Given the description of an element on the screen output the (x, y) to click on. 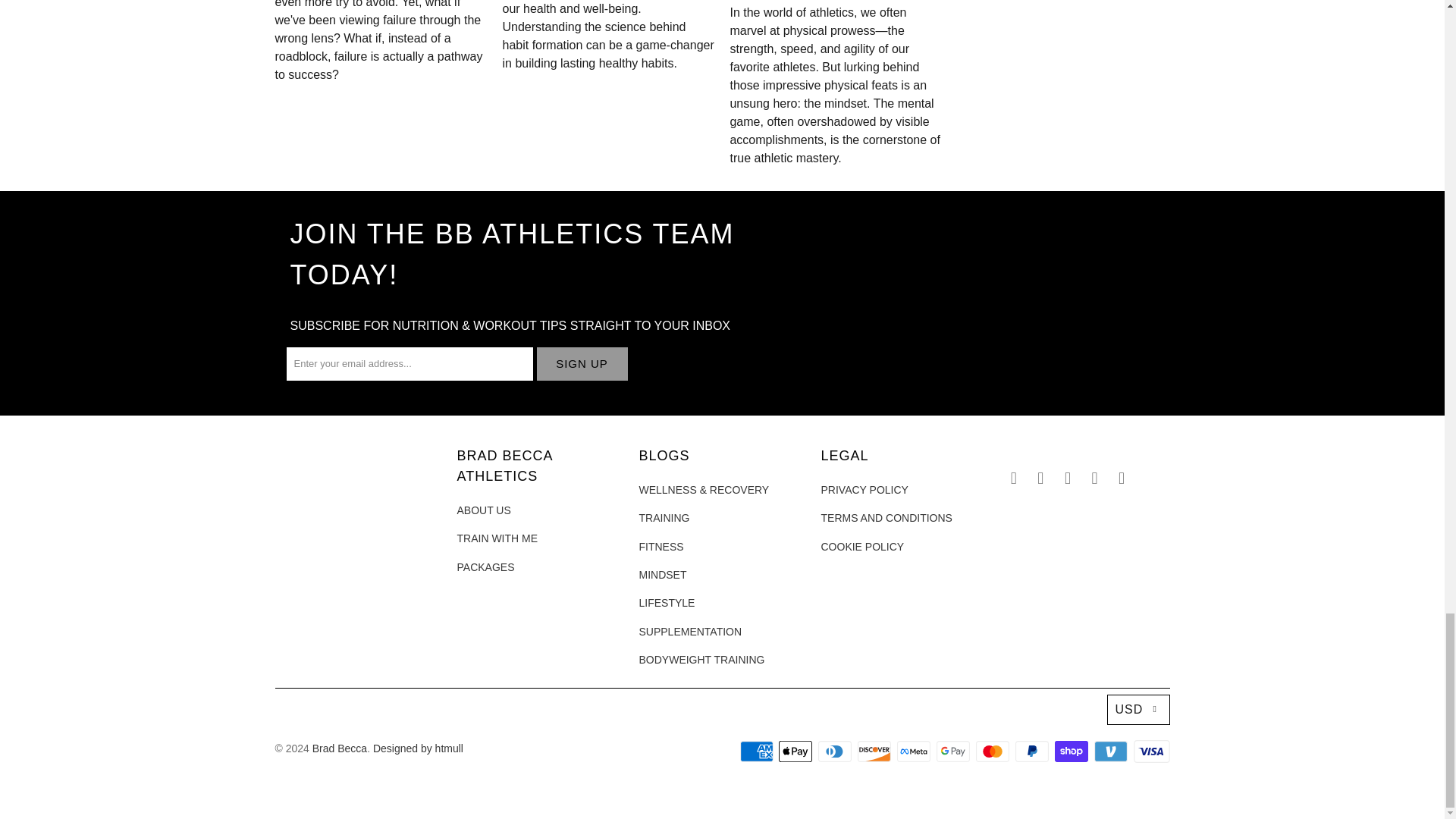
Diners Club (836, 751)
Visa (1150, 751)
Discover (875, 751)
Shop Pay (1072, 751)
PayPal (1032, 751)
Sign Up (582, 363)
Google Pay (954, 751)
Mastercard (993, 751)
Venmo (1112, 751)
American Express (757, 751)
